Given the description of an element on the screen output the (x, y) to click on. 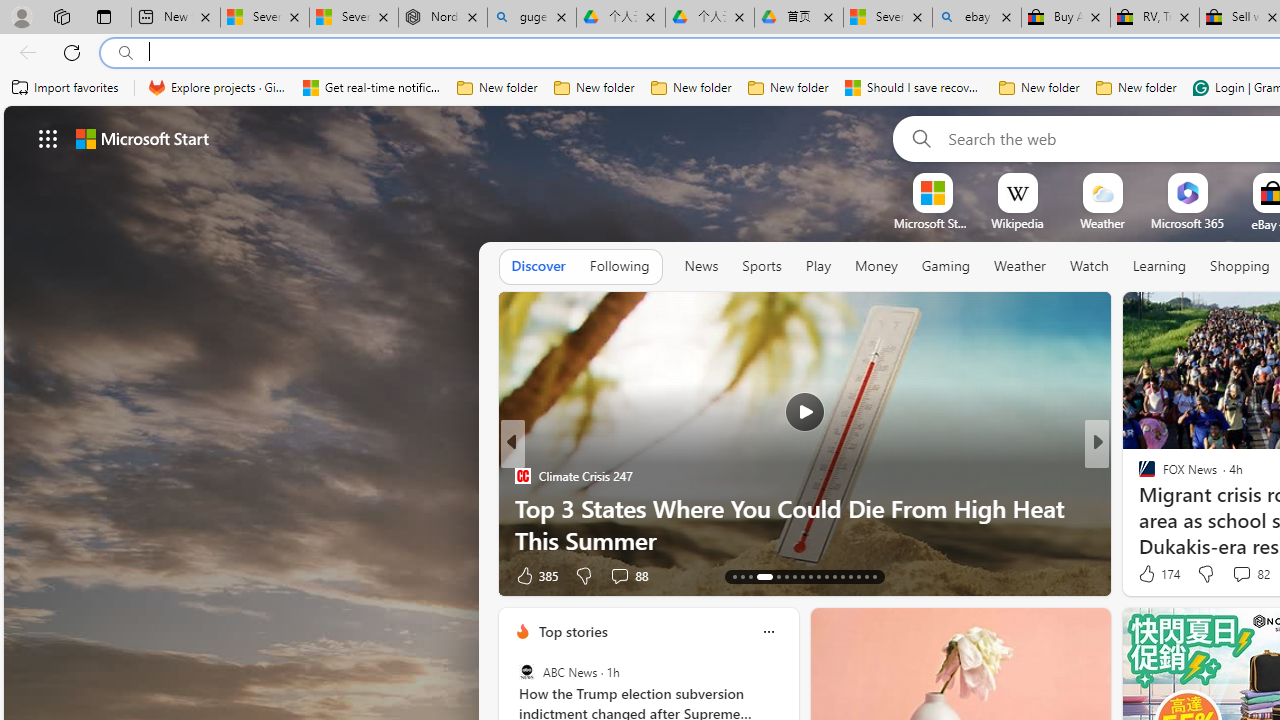
View comments 19 Comment (1229, 575)
Microsoft 365 (1186, 223)
View comments 1 Comment (1234, 574)
Gaming (945, 267)
22 Like (1149, 574)
News (701, 267)
AutomationID: tab-24 (833, 576)
311 Like (1151, 574)
RV, Trailer & Camper Steps & Ladders for sale | eBay (1155, 17)
CNET (1138, 507)
Search icon (125, 53)
Sports (761, 267)
